Given the description of an element on the screen output the (x, y) to click on. 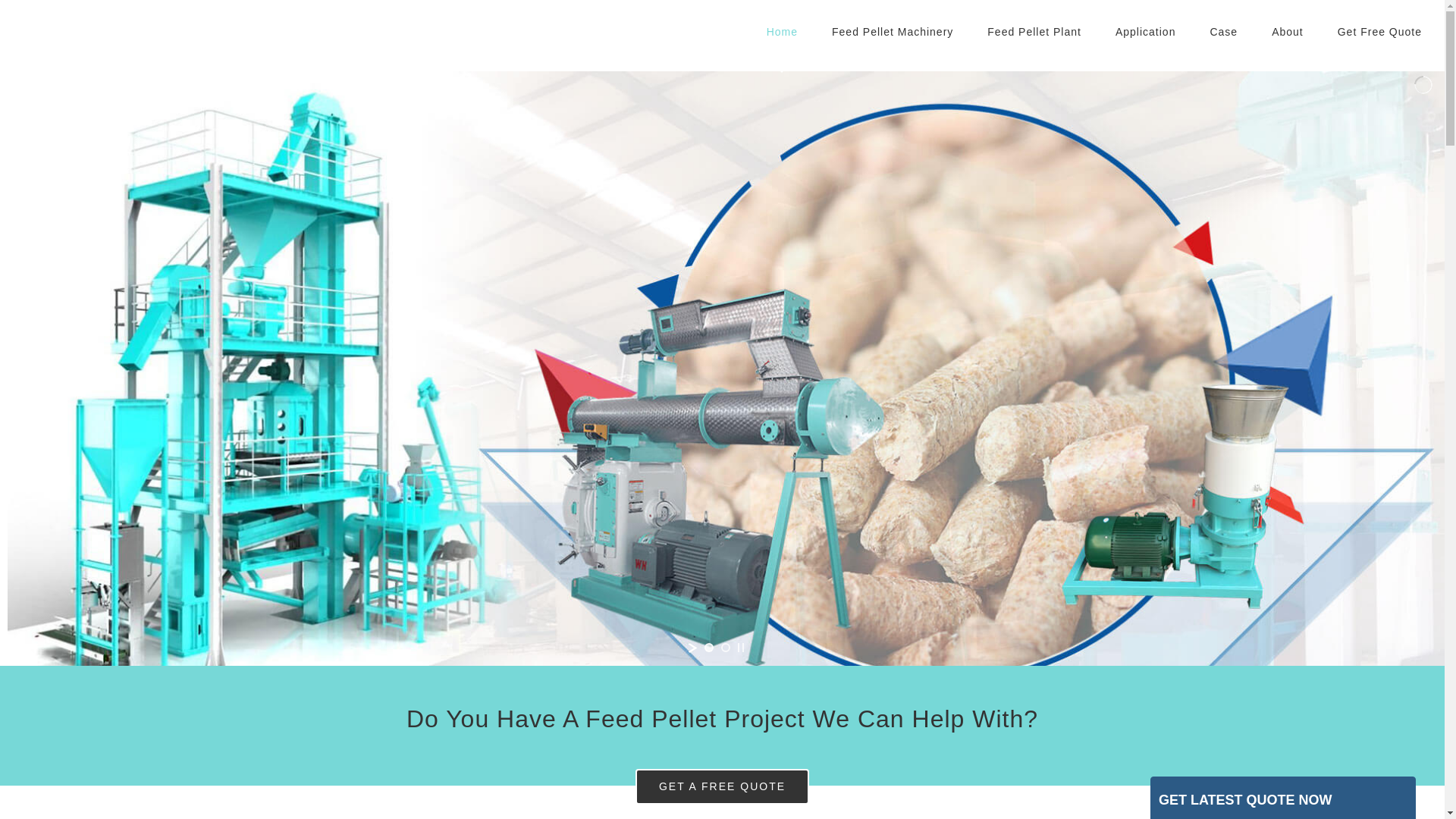
Feed Pellet Plant (1034, 31)
Application (1145, 31)
Feed Pellet Machinery (892, 31)
Get Free Quote (1380, 31)
